Given the description of an element on the screen output the (x, y) to click on. 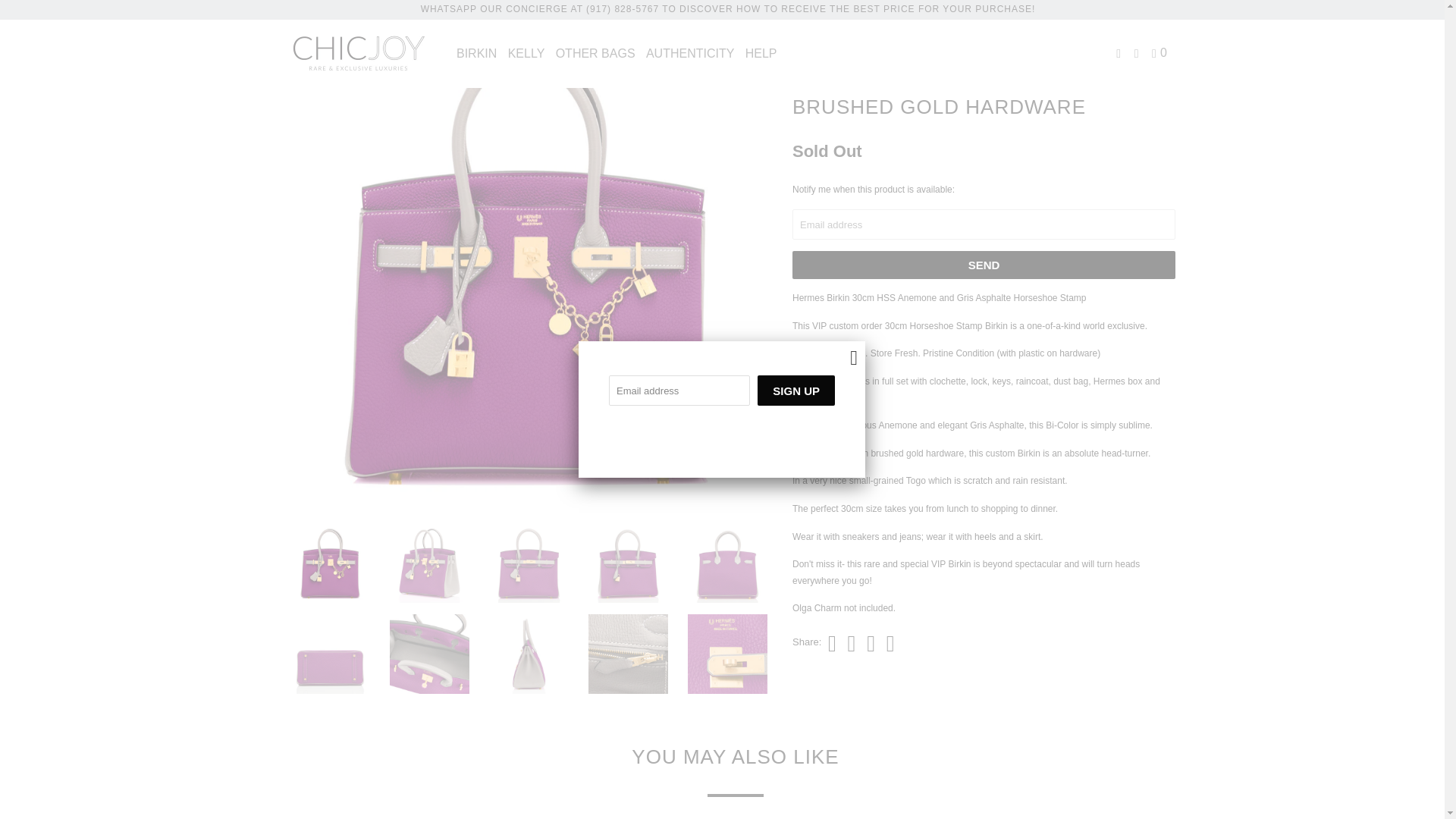
Search (1137, 52)
KELLY (526, 52)
Send (983, 264)
My Account  (1119, 52)
Chicjoy (358, 52)
Send (983, 264)
HELP (761, 52)
0 (1160, 52)
Sign Up (795, 390)
AUTHENTICITY (689, 52)
BIRKIN (475, 52)
OTHER BAGS (596, 52)
